Given the description of an element on the screen output the (x, y) to click on. 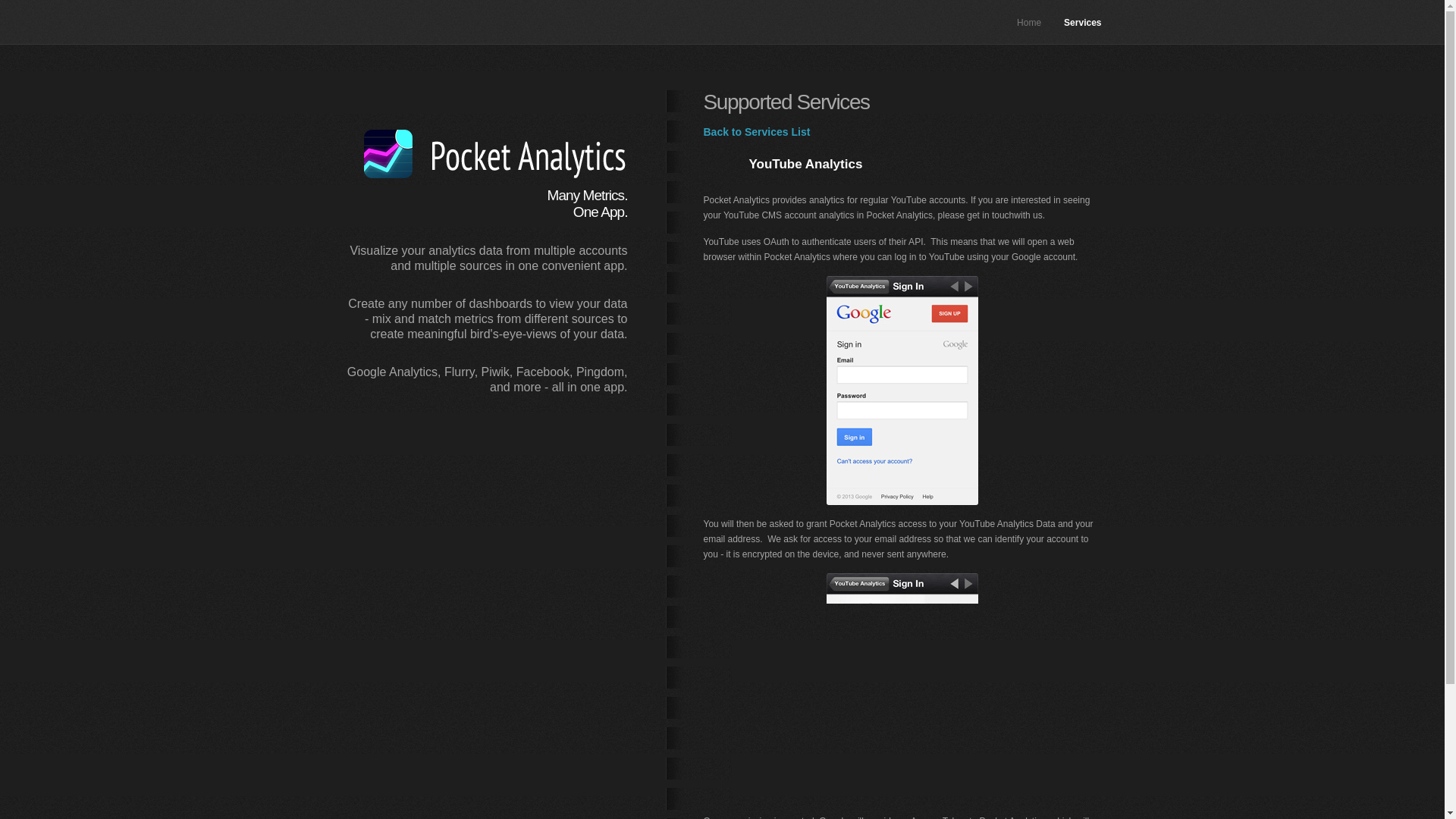
Back to Services List (756, 132)
Home (1028, 22)
Services (1082, 22)
